Given the description of an element on the screen output the (x, y) to click on. 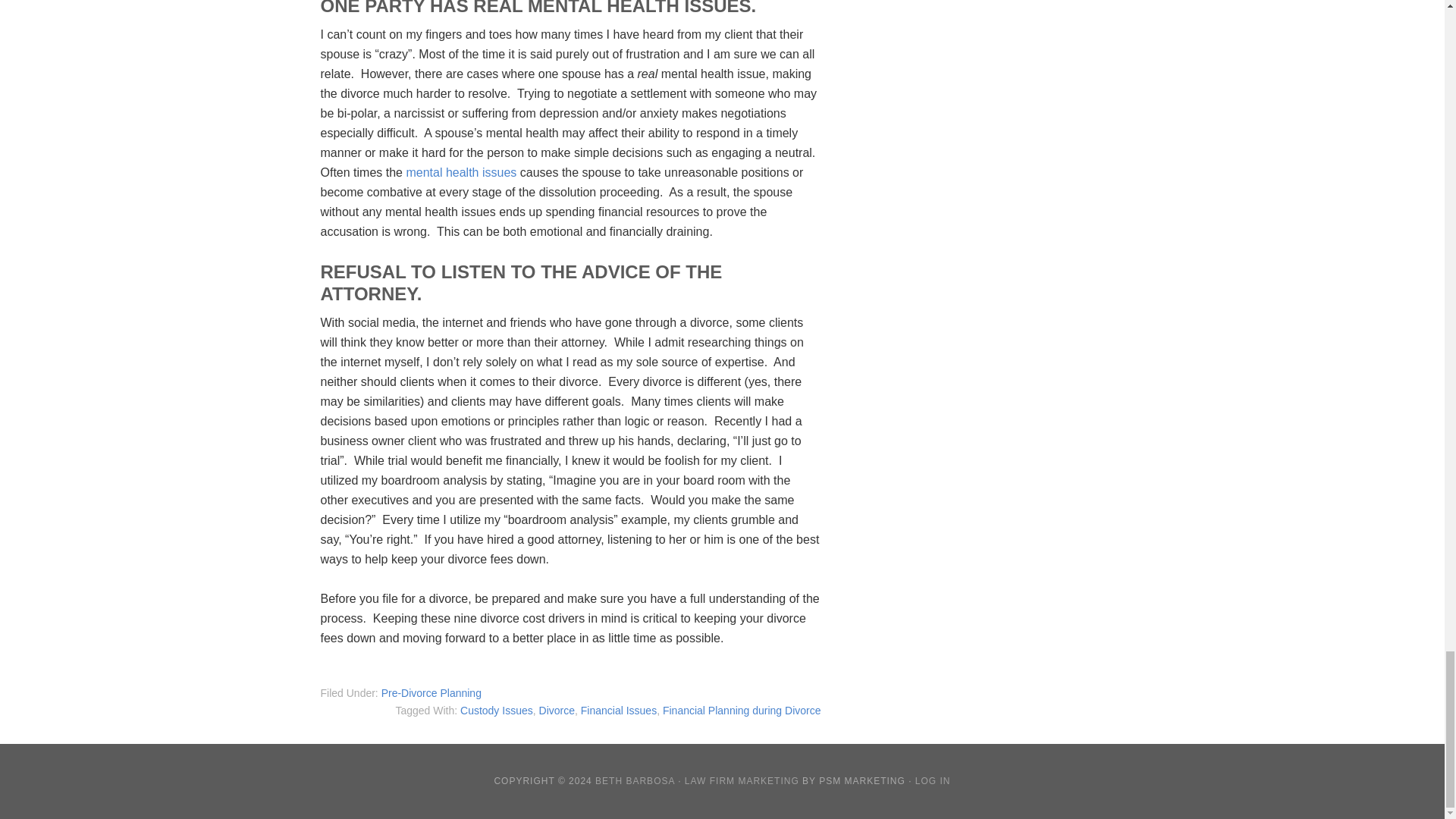
Financial Planning during Divorce (741, 710)
Pre-Divorce Planning (431, 693)
mental health issues (461, 172)
Divorce (556, 710)
Custody Issues (496, 710)
BETH BARBOSA (635, 780)
LOG IN (932, 780)
LAW FIRM MARKETING (741, 780)
Financial Issues (618, 710)
